Given the description of an element on the screen output the (x, y) to click on. 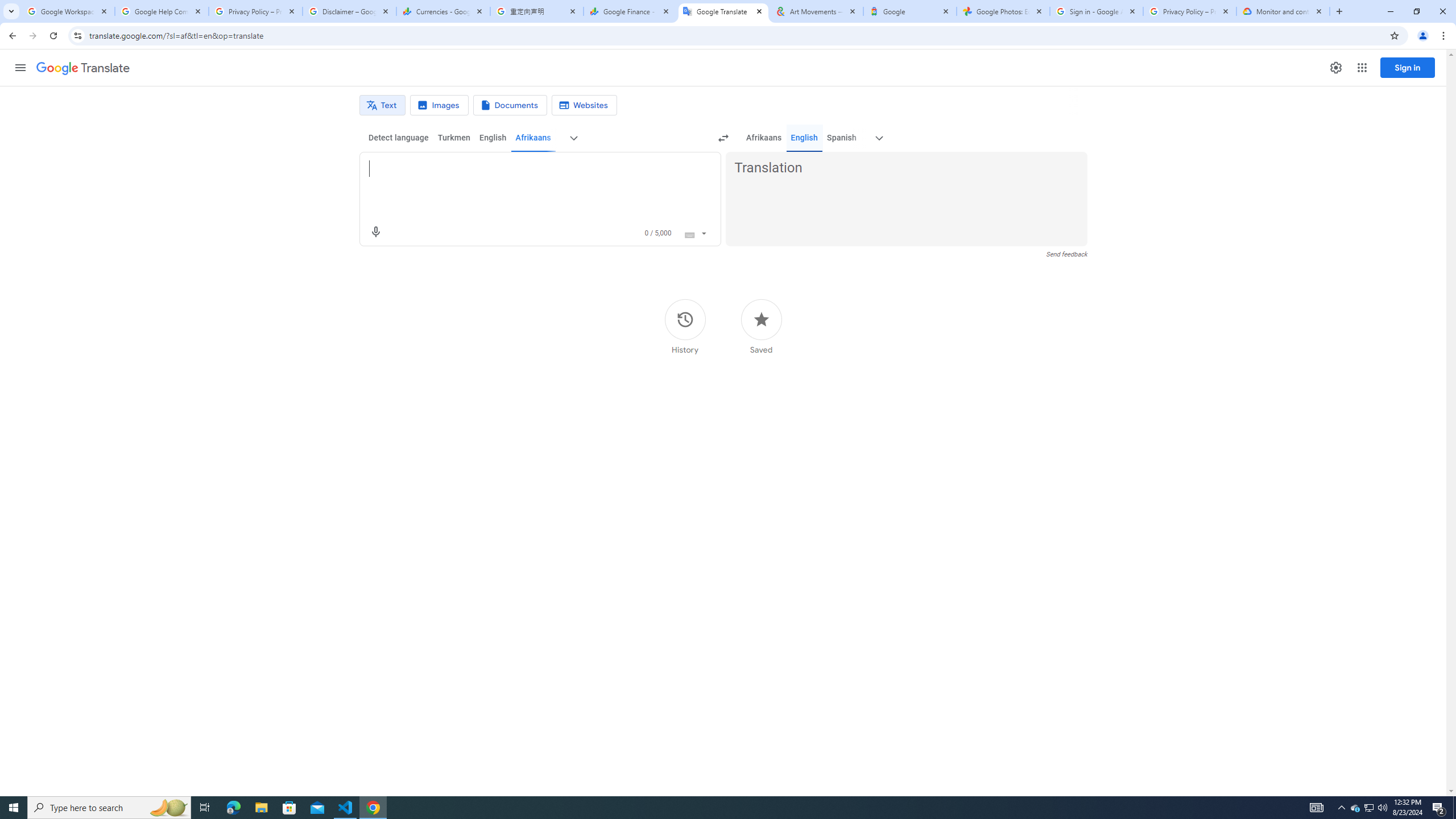
Translate by voice (375, 231)
Document translation (510, 105)
Send feedback (1066, 253)
History (684, 326)
Google Translate (82, 68)
Saved (761, 326)
Sign in - Google Accounts (1096, 11)
